Given the description of an element on the screen output the (x, y) to click on. 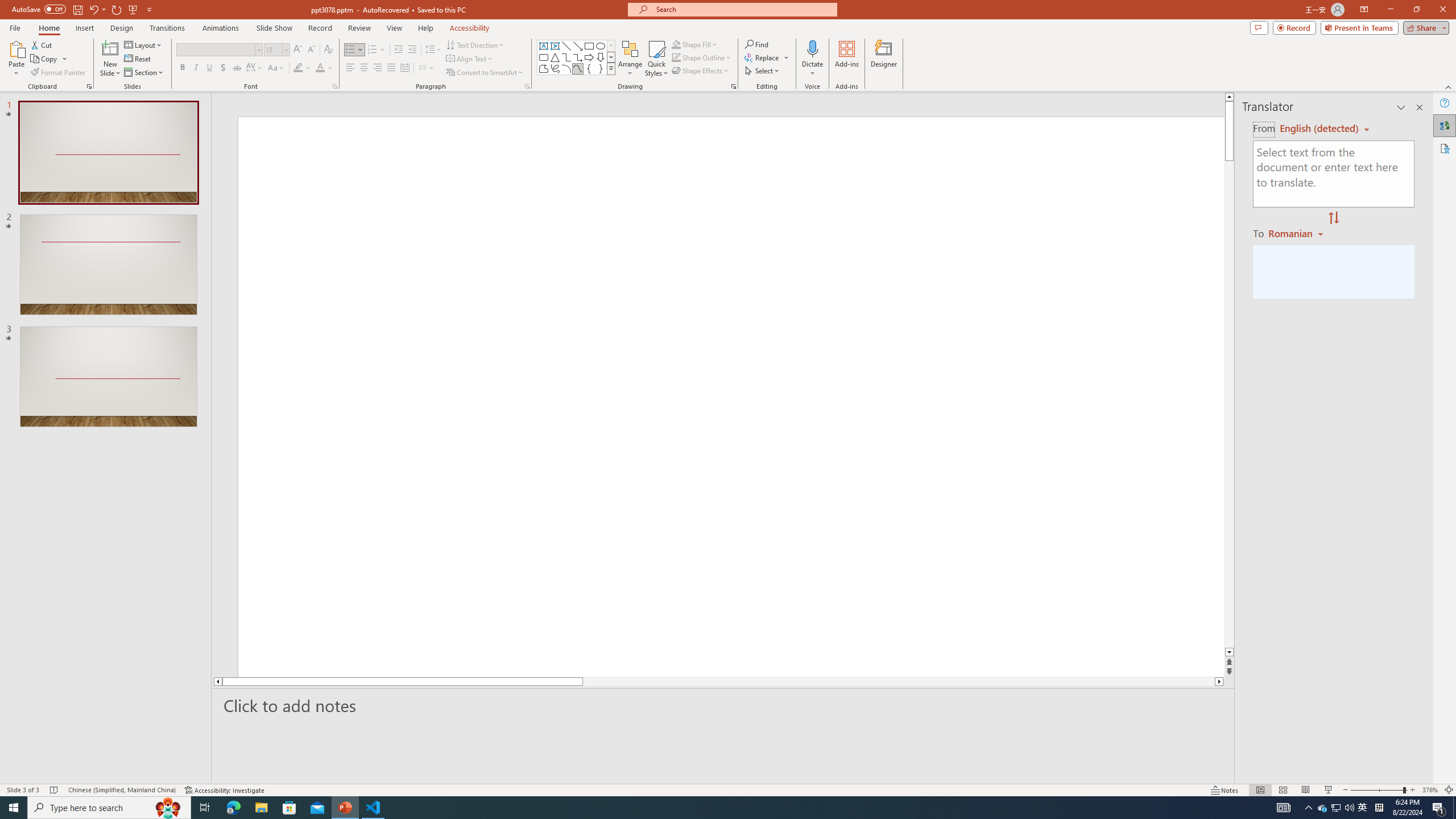
Right Brace (600, 68)
Clear Formatting (327, 49)
Convert to SmartArt (485, 72)
Align Left (349, 67)
Align Text (470, 58)
Arrow: Down (600, 57)
Freeform: Scribble (554, 68)
Freeform: Shape (543, 68)
Align Right (377, 67)
